Given the description of an element on the screen output the (x, y) to click on. 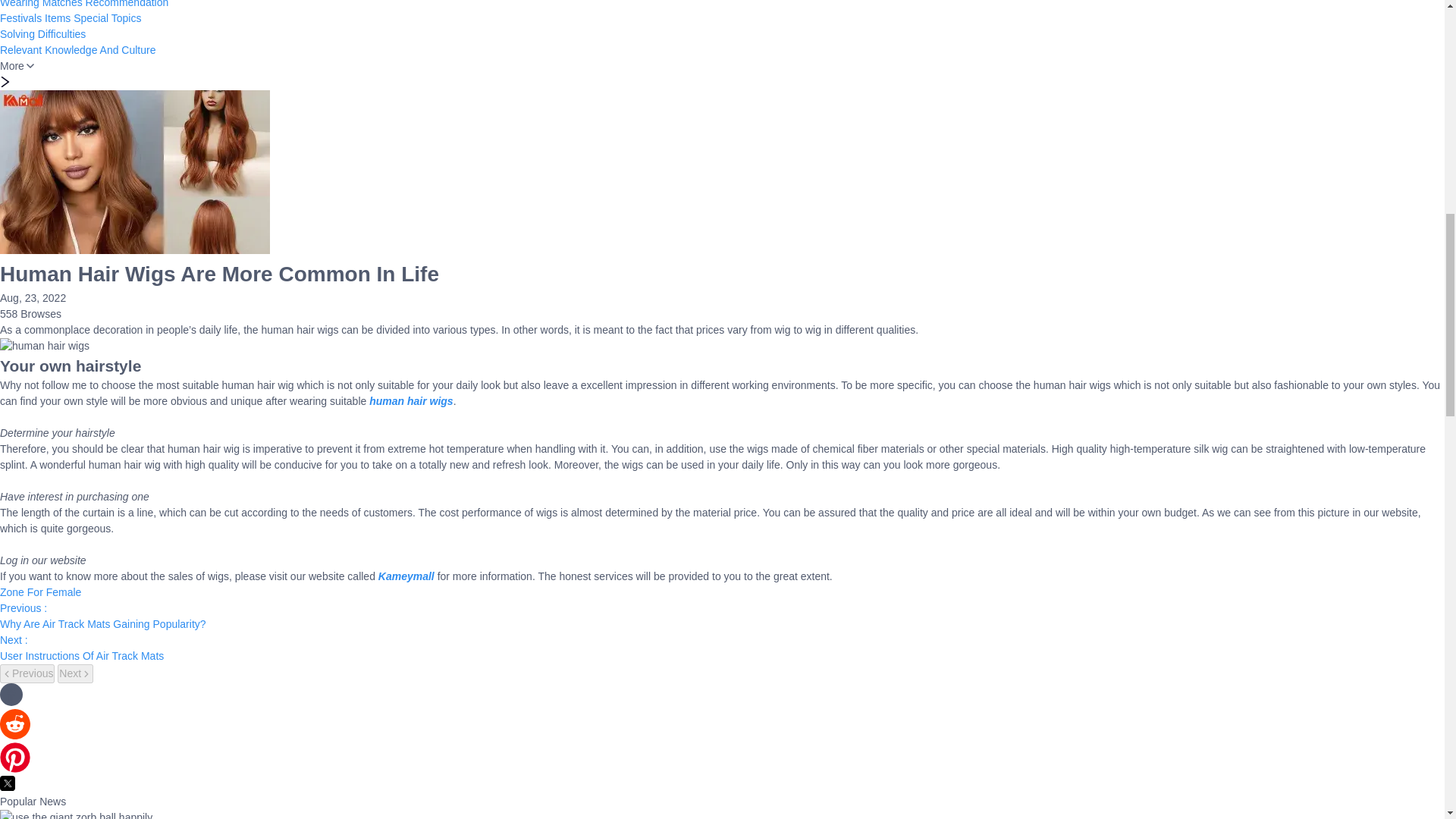
Created with Pixso. (7, 783)
Zone For Female (40, 592)
Relevant Knowledge And Culture (77, 50)
Next (75, 673)
Previous (27, 673)
Festivals Items Special Topics (70, 18)
human hair wigs (410, 400)
Previous (27, 673)
Kameymall (405, 576)
Solving Difficulties (42, 33)
